Given the description of an element on the screen output the (x, y) to click on. 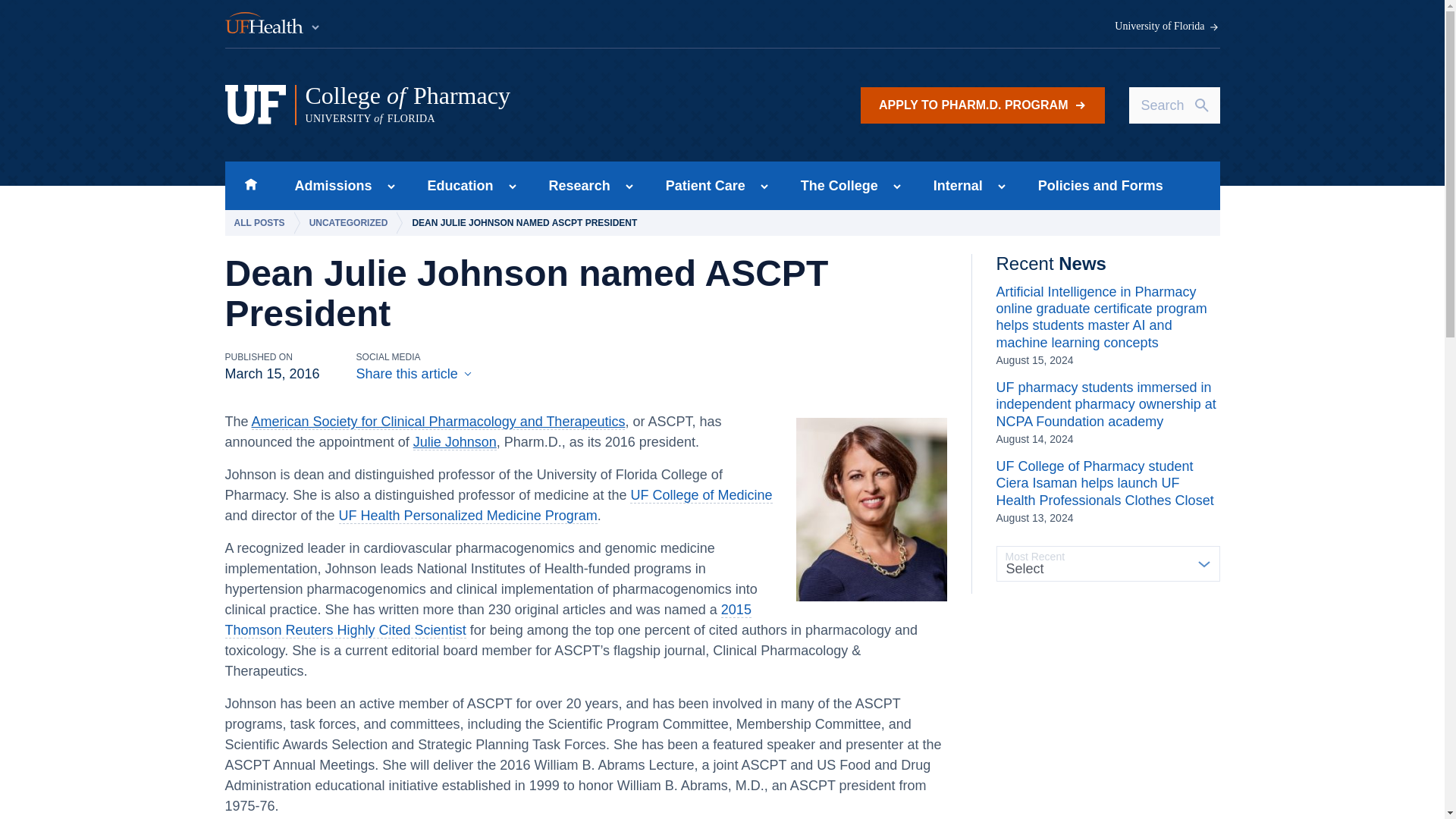
Research (575, 185)
Admissions (328, 185)
UF Health (272, 24)
Home (250, 185)
Education (455, 185)
University of Florida (1167, 26)
